Given the description of an element on the screen output the (x, y) to click on. 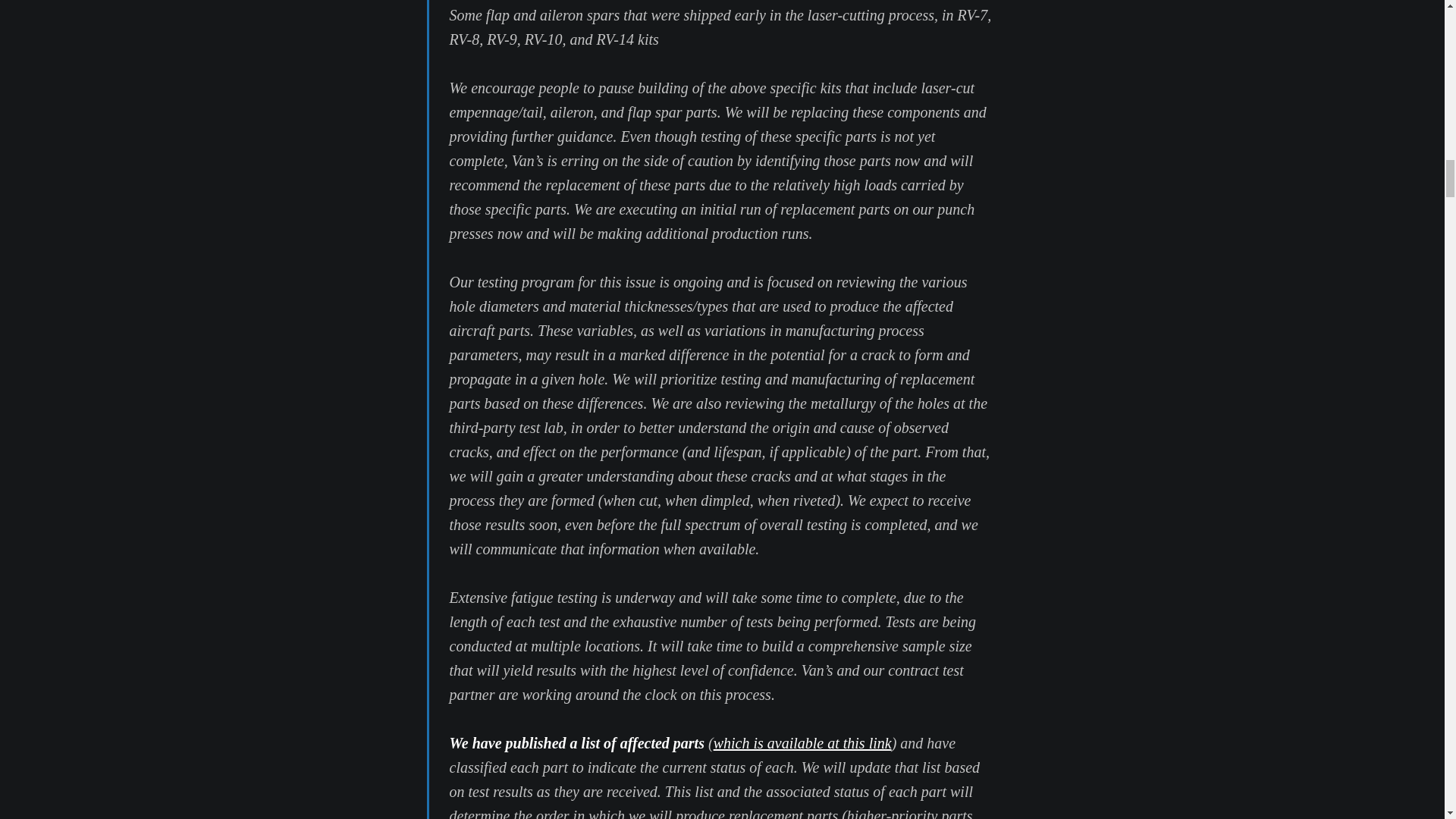
which is available at this link (802, 742)
